Given the description of an element on the screen output the (x, y) to click on. 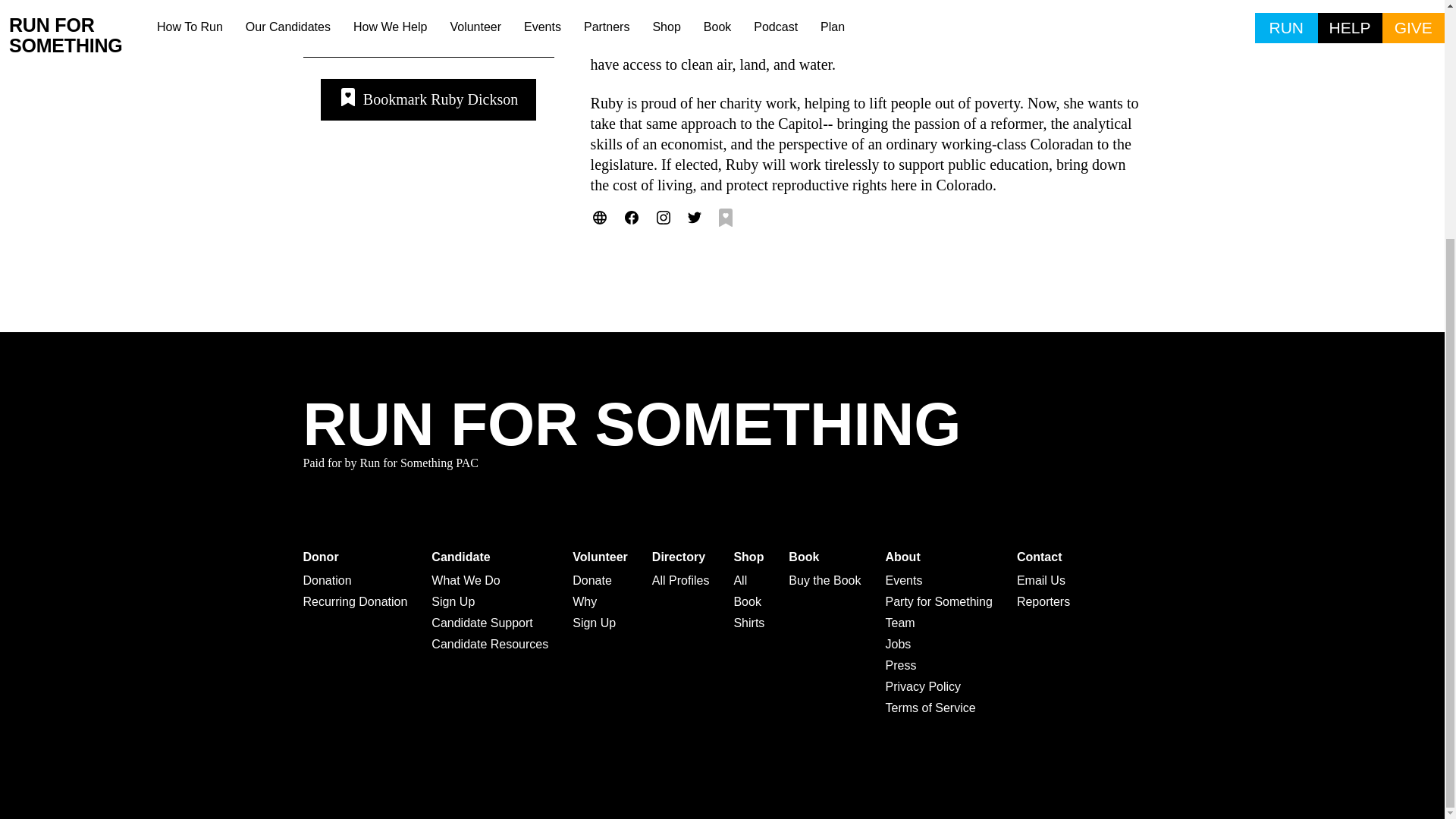
Candidate Support (489, 622)
Sign Up (599, 622)
Book (748, 601)
Donor (354, 557)
What We Do (489, 580)
Recurring Donation (354, 601)
All (748, 580)
Shirts (748, 622)
Bookmark (427, 99)
Bookmark Ruby Dickson (427, 99)
Shop (748, 557)
All Profiles (681, 580)
Donation (354, 580)
Donate (599, 580)
Candidate (489, 557)
